Given the description of an element on the screen output the (x, y) to click on. 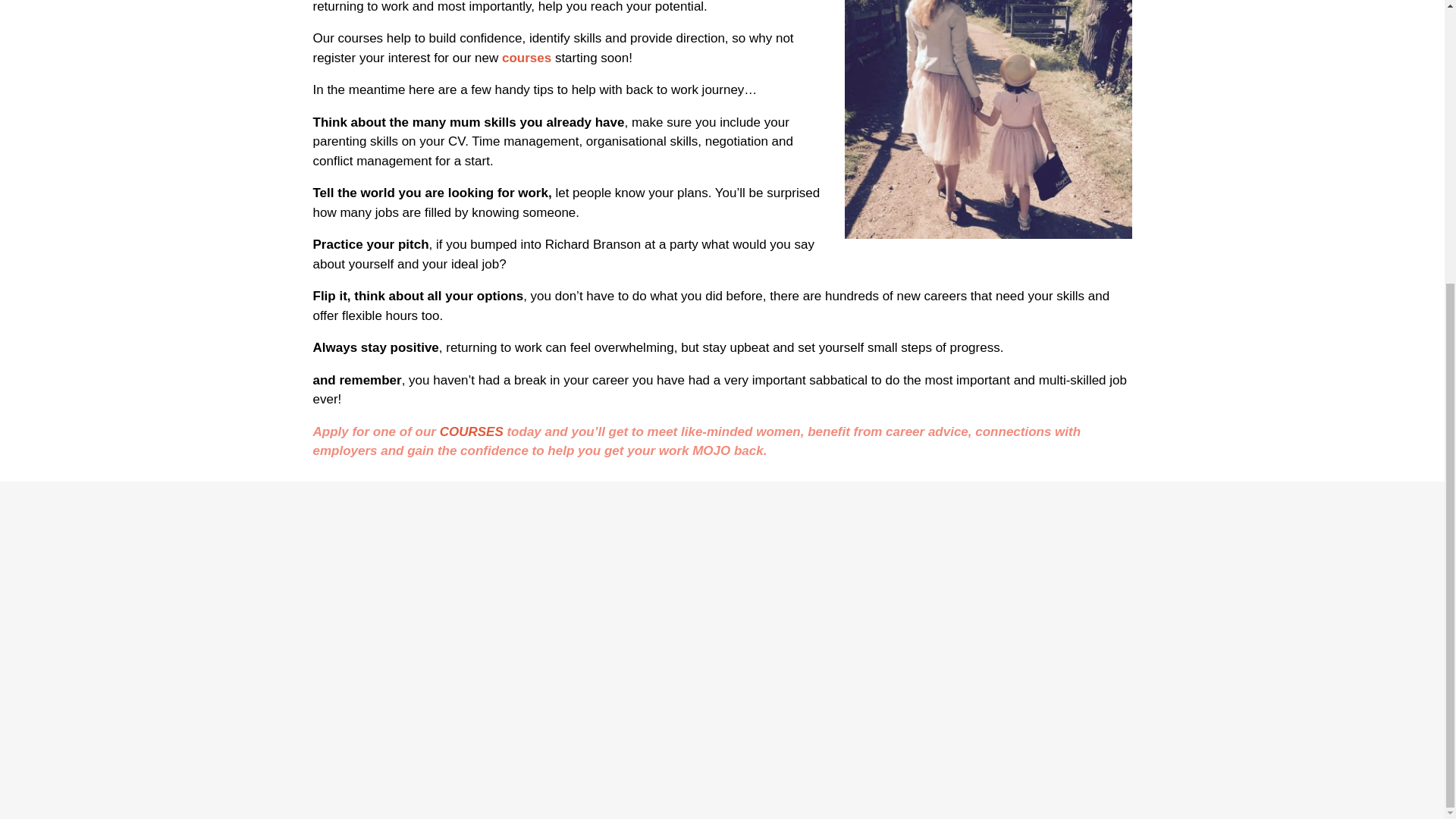
COURSES (471, 431)
courses (526, 57)
